Given the description of an element on the screen output the (x, y) to click on. 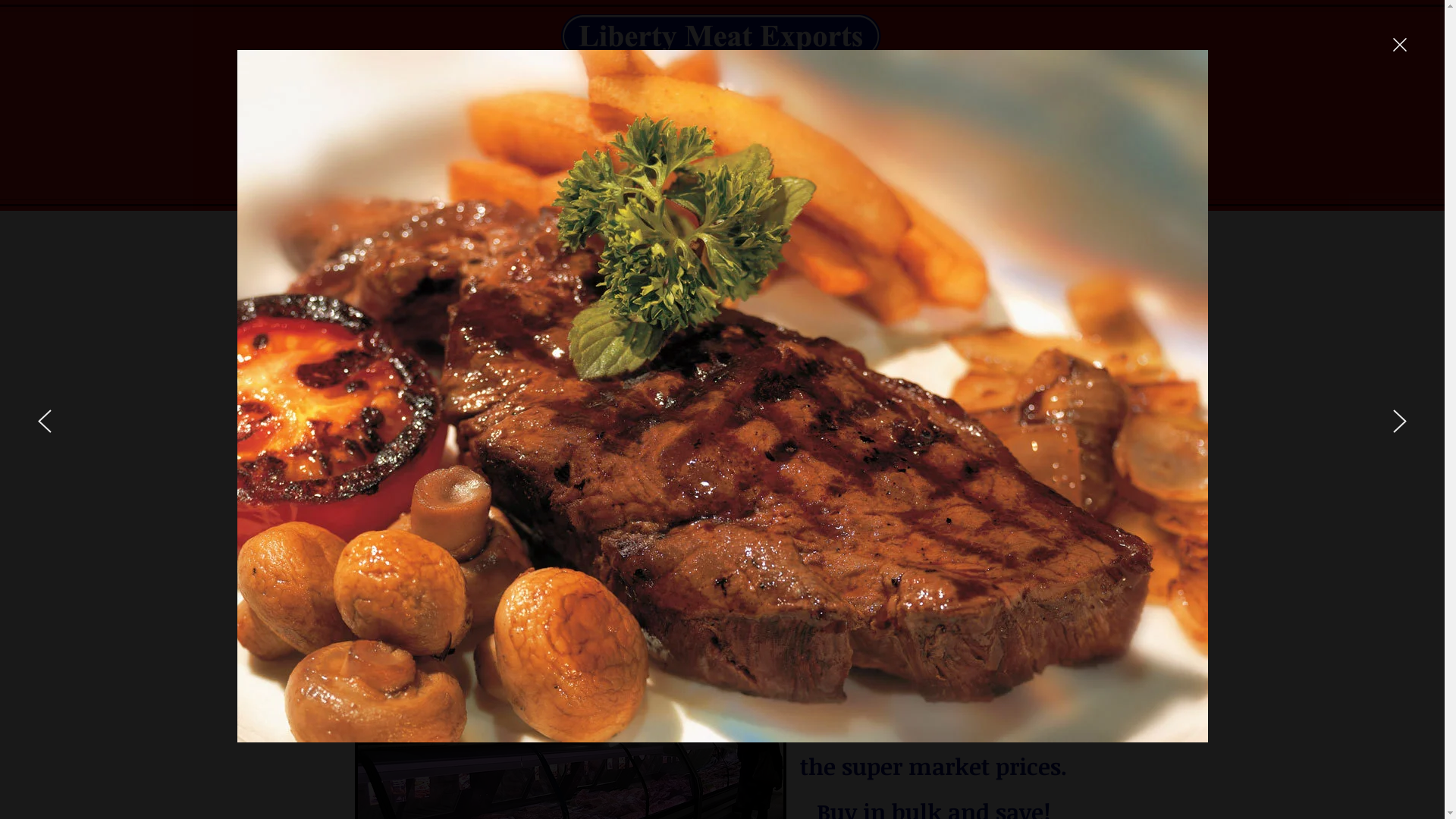
ABOUT US Element type: text (852, 115)
info@meatonchifley.com.au Element type: text (709, 389)
HOME Element type: text (730, 115)
CONTACT US Element type: text (995, 115)
